Given the description of an element on the screen output the (x, y) to click on. 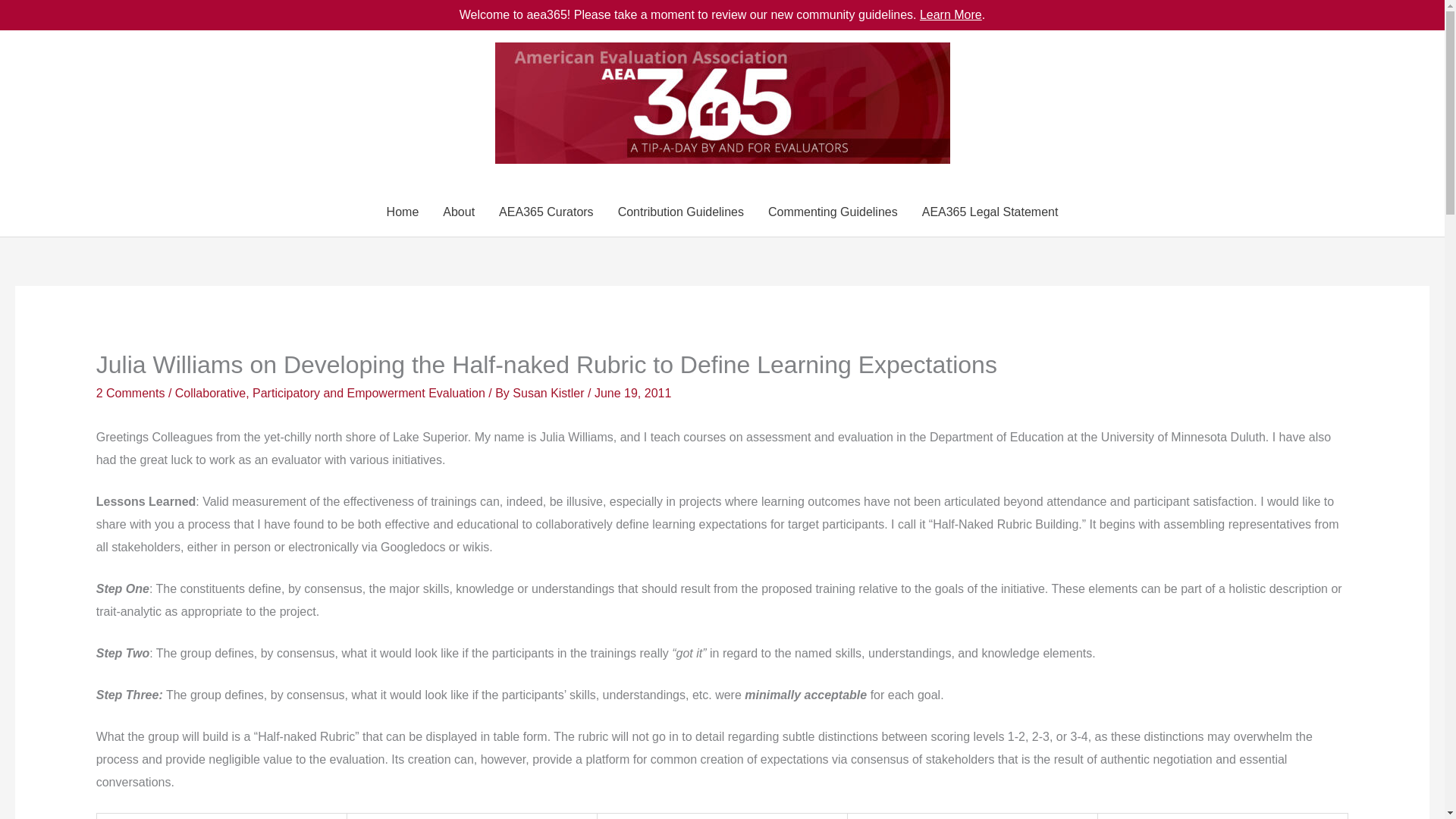
View all posts by Susan Kistler (550, 392)
AEA365 Legal Statement (990, 212)
Susan Kistler (550, 392)
AEA365 Curators (545, 212)
Home (402, 212)
Commenting Guidelines (832, 212)
Collaborative, Participatory and Empowerment Evaluation (329, 392)
Contribution Guidelines (680, 212)
2 Comments (130, 392)
Learn More (950, 14)
